Given the description of an element on the screen output the (x, y) to click on. 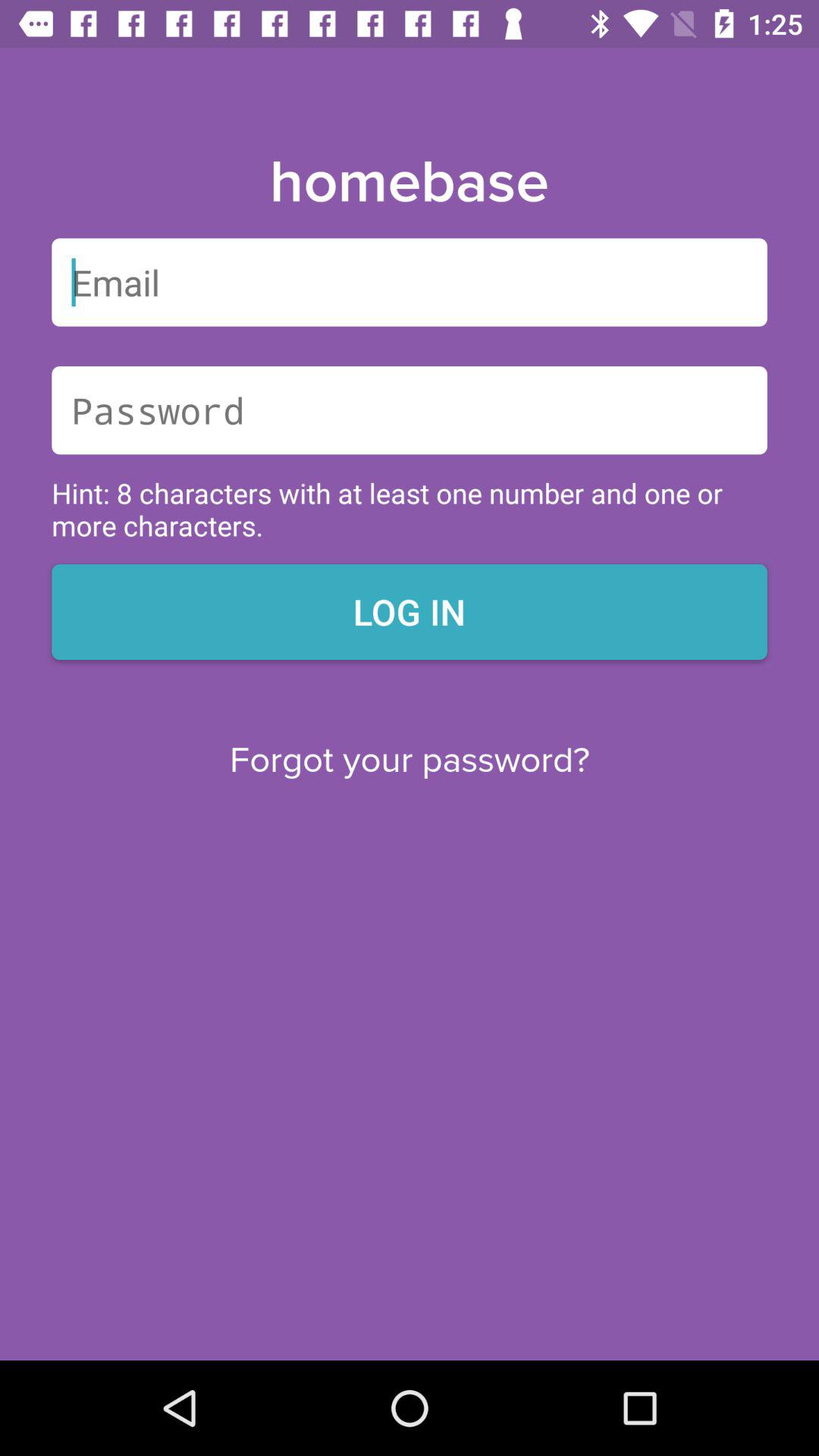
scroll to the forgot your password? (409, 760)
